Given the description of an element on the screen output the (x, y) to click on. 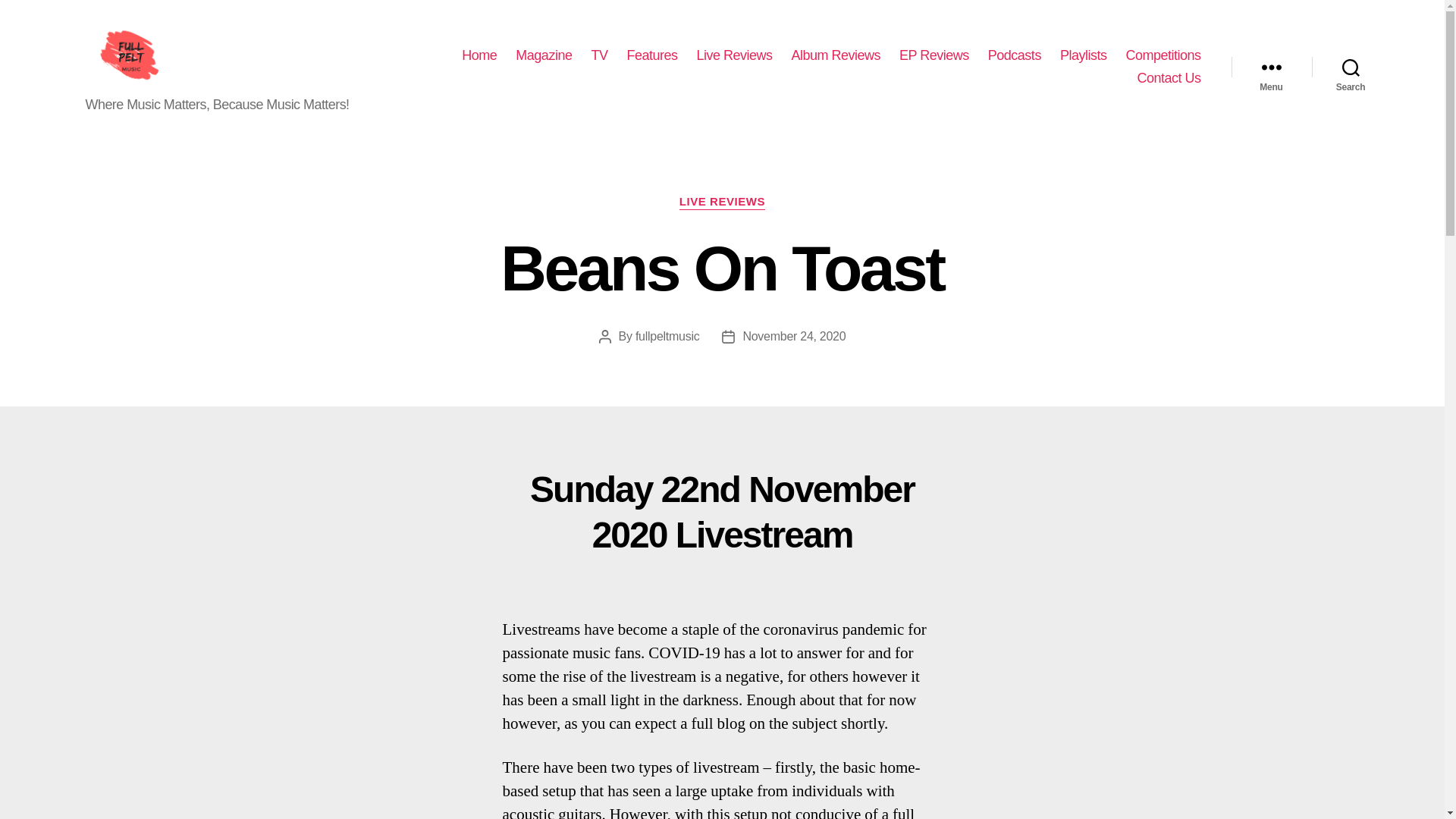
Menu (1271, 66)
EP Reviews (934, 55)
Magazine (543, 55)
Playlists (1082, 55)
Podcasts (1014, 55)
Contact Us (1168, 77)
Album Reviews (836, 55)
Features (651, 55)
Competitions (1162, 55)
Live Reviews (733, 55)
